Given the description of an element on the screen output the (x, y) to click on. 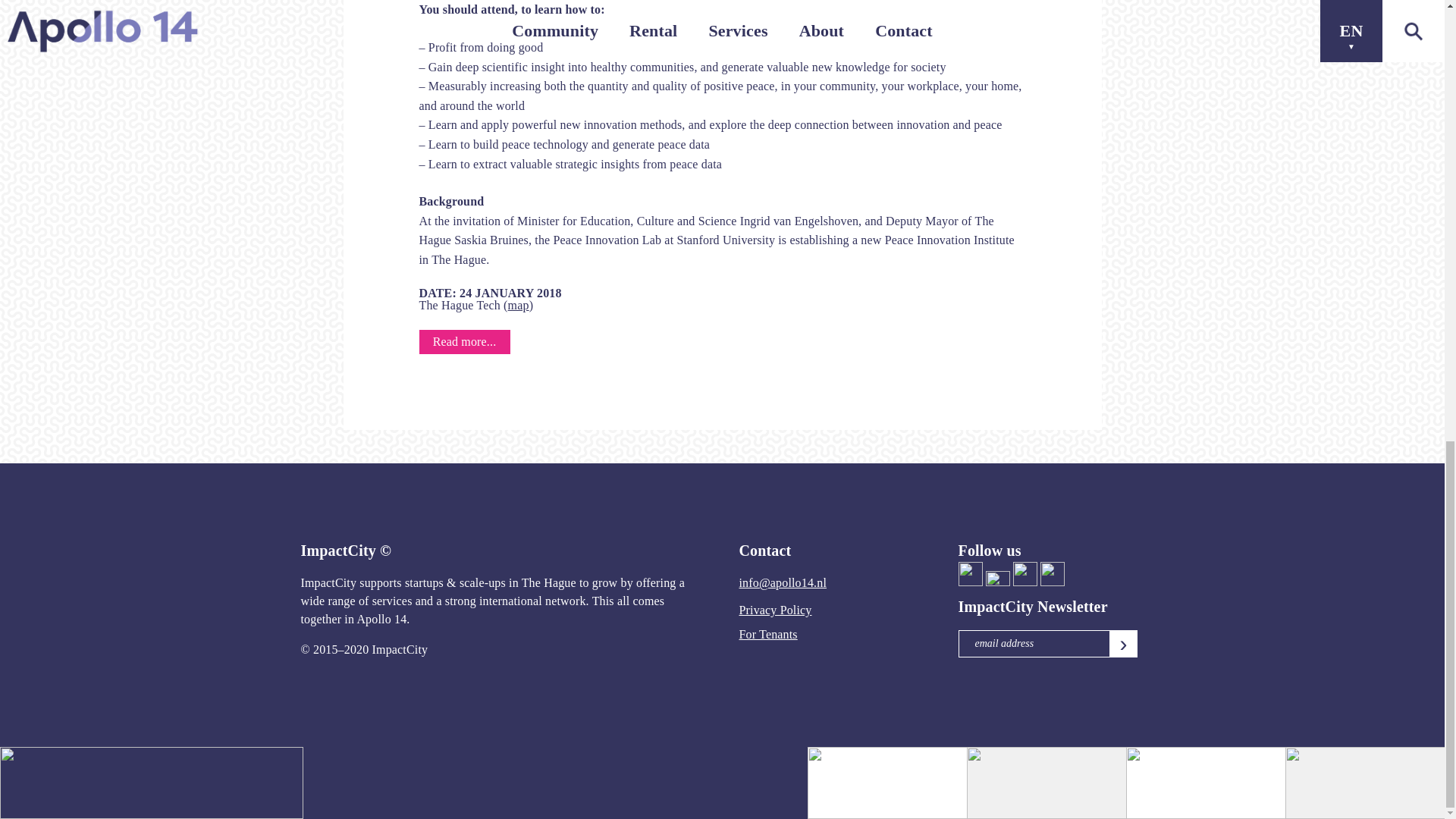
map (518, 305)
Privacy Policy (774, 609)
For Tenants (767, 634)
Read more... (464, 341)
